Given the description of an element on the screen output the (x, y) to click on. 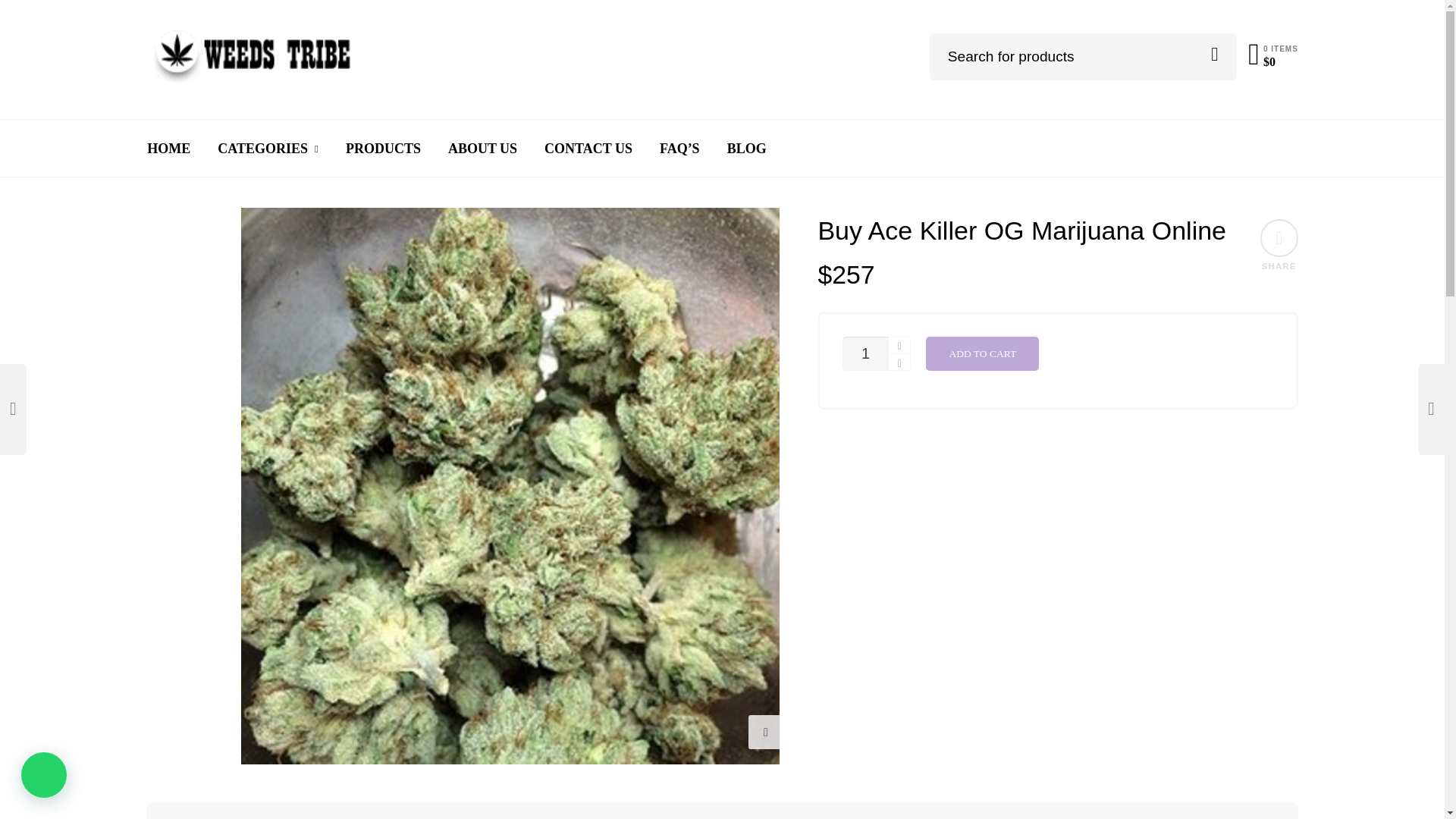
BLOG (746, 148)
HOME (168, 148)
Search (1213, 54)
ADD TO CART (982, 353)
1 (865, 353)
ABOUT US (482, 148)
PRODUCTS (382, 148)
Qty (865, 353)
CATEGORIES (267, 148)
CONTACT US (588, 148)
